Given the description of an element on the screen output the (x, y) to click on. 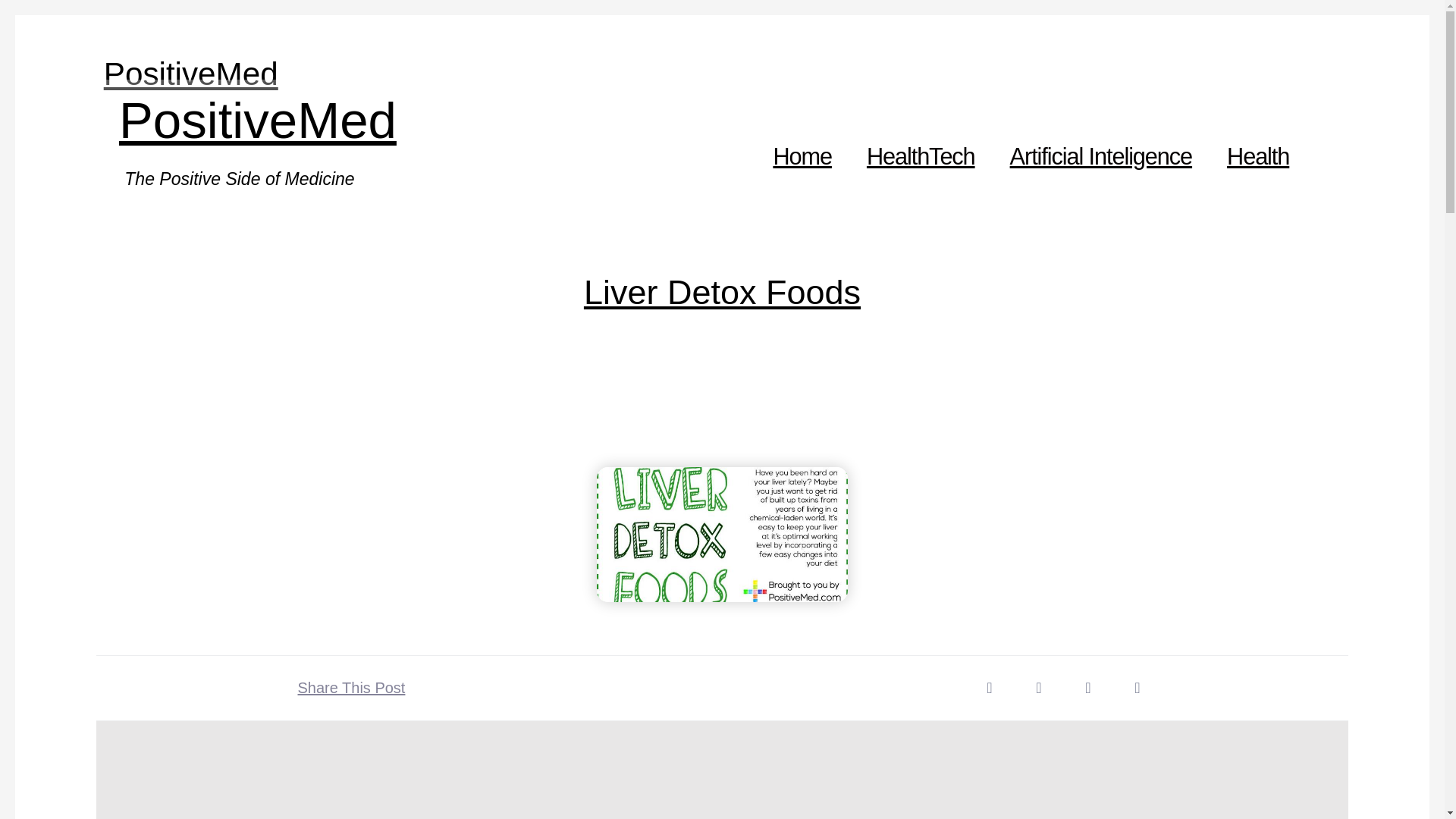
HealthTech (920, 156)
Home (802, 156)
Health (1258, 156)
Artificial Inteligence (1101, 156)
PositiveMed (190, 73)
